Given the description of an element on the screen output the (x, y) to click on. 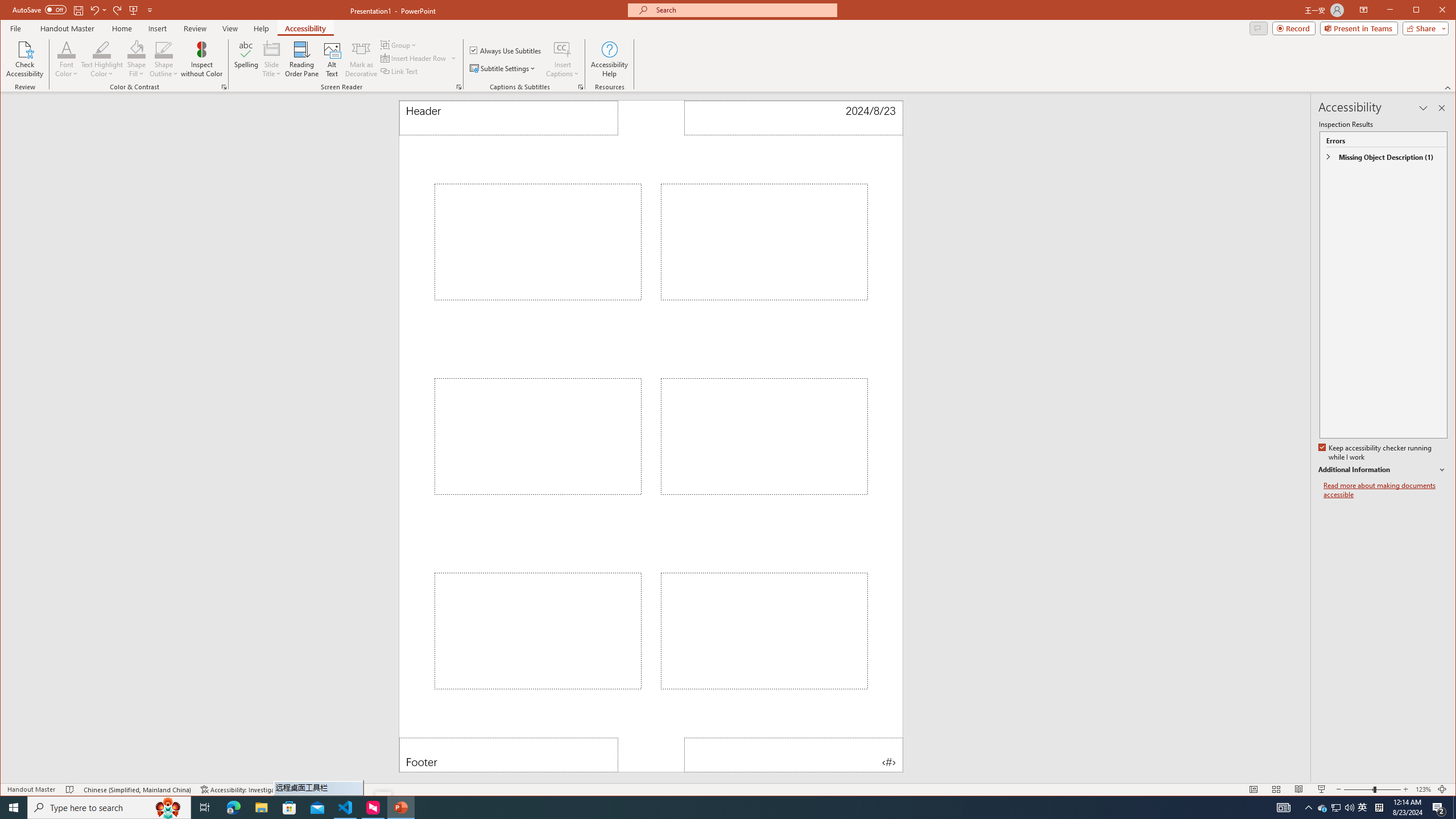
Screen Reader (458, 86)
Text Highlight Color (102, 48)
Inspect without Color (201, 59)
Running applications (1335, 807)
Shape Fill Orange, Accent 2 (700, 807)
Check Accessibility (136, 48)
Insert Captions (25, 59)
Insert Header Row (562, 59)
Text Highlight Color (418, 57)
Subtitle Settings (102, 59)
